Given the description of an element on the screen output the (x, y) to click on. 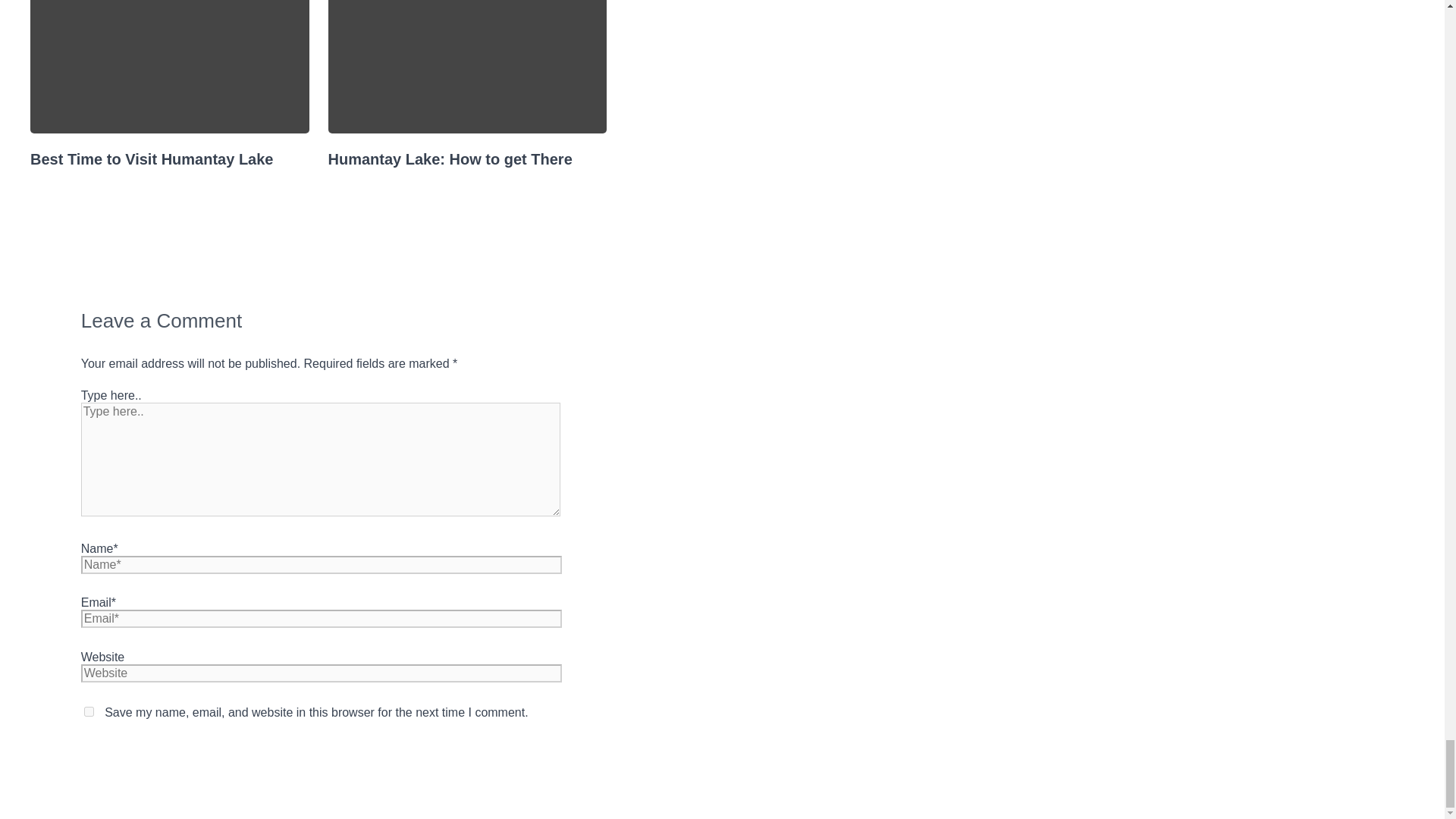
yes (89, 711)
